Given the description of an element on the screen output the (x, y) to click on. 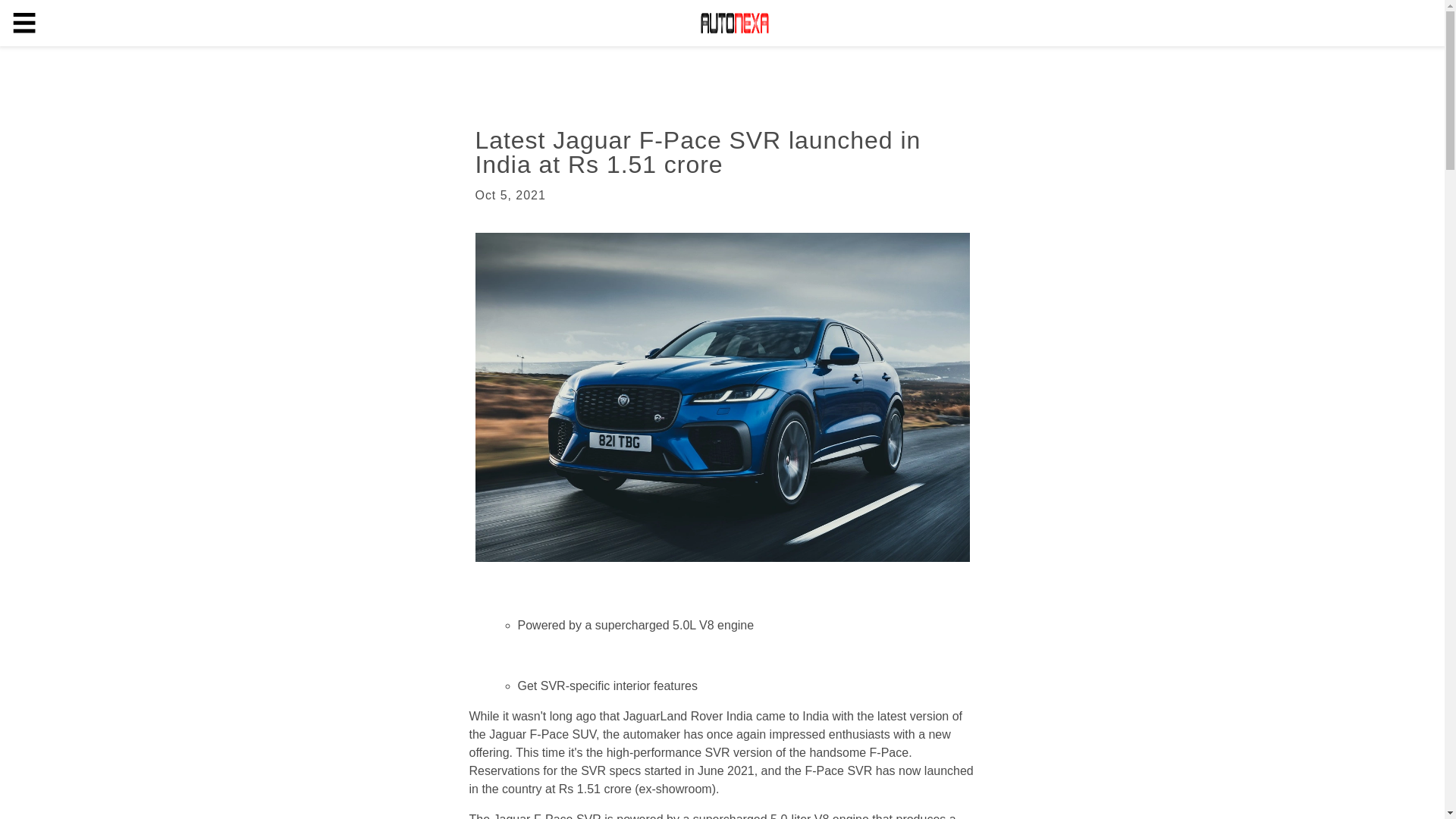
Jaguar (512, 816)
3rd party ad content (684, 76)
